Given the description of an element on the screen output the (x, y) to click on. 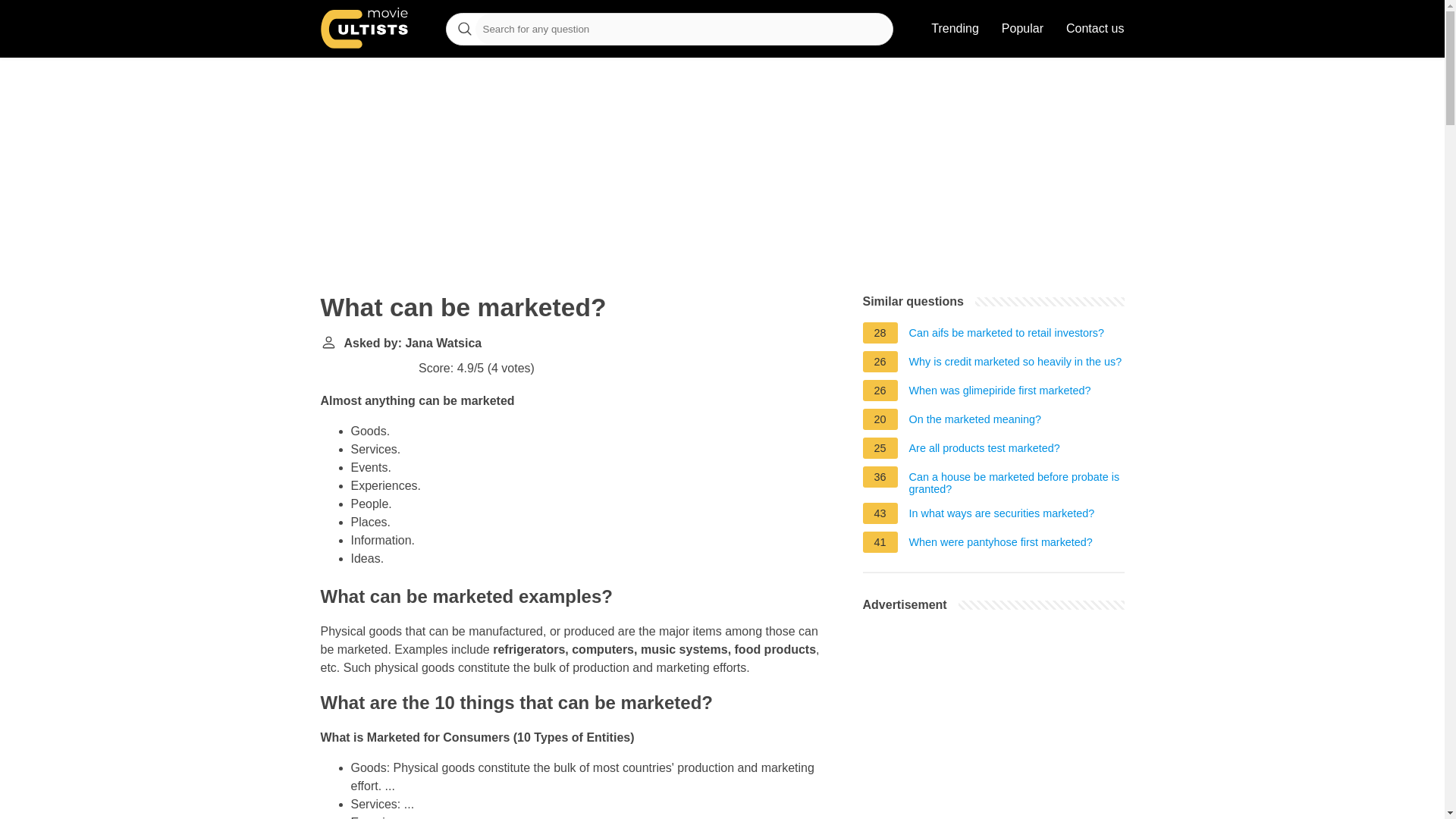
Popular (1022, 28)
In what ways are securities marketed? (1001, 515)
Contact us (1094, 28)
Why is credit marketed so heavily in the us? (1015, 363)
When was glimepiride first marketed? (999, 392)
Can a house be marketed before probate is granted? (1016, 482)
When were pantyhose first marketed? (1000, 544)
Are all products test marketed? (983, 450)
Trending (954, 28)
On the marketed meaning? (974, 421)
